Given the description of an element on the screen output the (x, y) to click on. 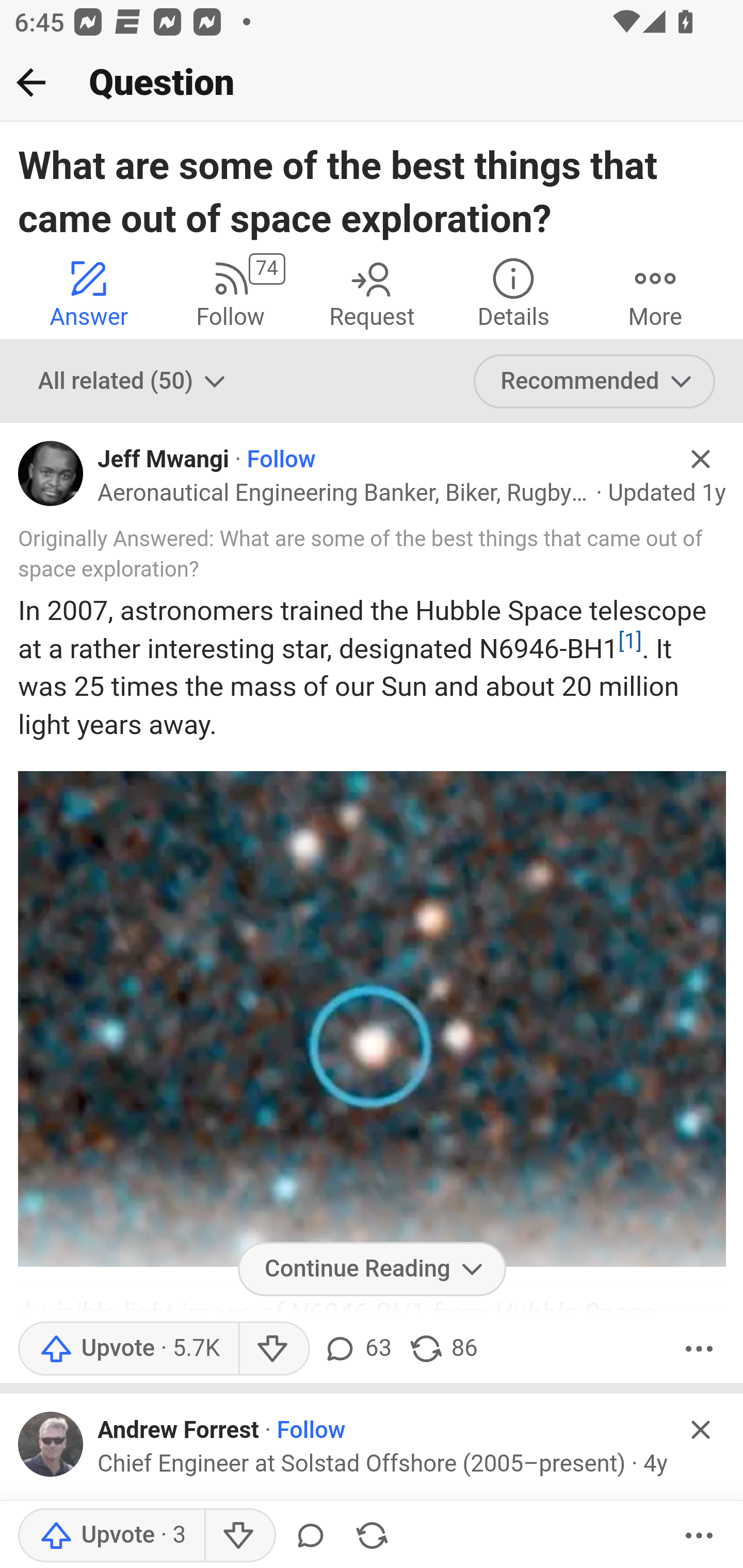
Back Question (371, 82)
Back (30, 82)
Answer (88, 292)
74 Follow (230, 292)
Request (371, 292)
Details (513, 292)
More (655, 292)
All related (50) (133, 381)
Recommended (594, 381)
Hide (700, 459)
Profile photo for Jeff Mwangi (50, 473)
Jeff Mwangi (164, 459)
Follow (280, 459)
Updated 1y Updated  1 y (667, 493)
[1] [ 1 ] (629, 641)
Continue Reading (371, 1268)
Upvote (127, 1348)
Downvote (273, 1348)
63 comments (356, 1348)
86 shares (442, 1348)
More (699, 1348)
Hide (700, 1428)
Profile photo for Andrew Forrest (50, 1444)
Andrew Forrest (178, 1430)
Follow (311, 1430)
Upvote (111, 1535)
Downvote (238, 1535)
Comment (310, 1535)
Share (372, 1535)
More (699, 1535)
